Given the description of an element on the screen output the (x, y) to click on. 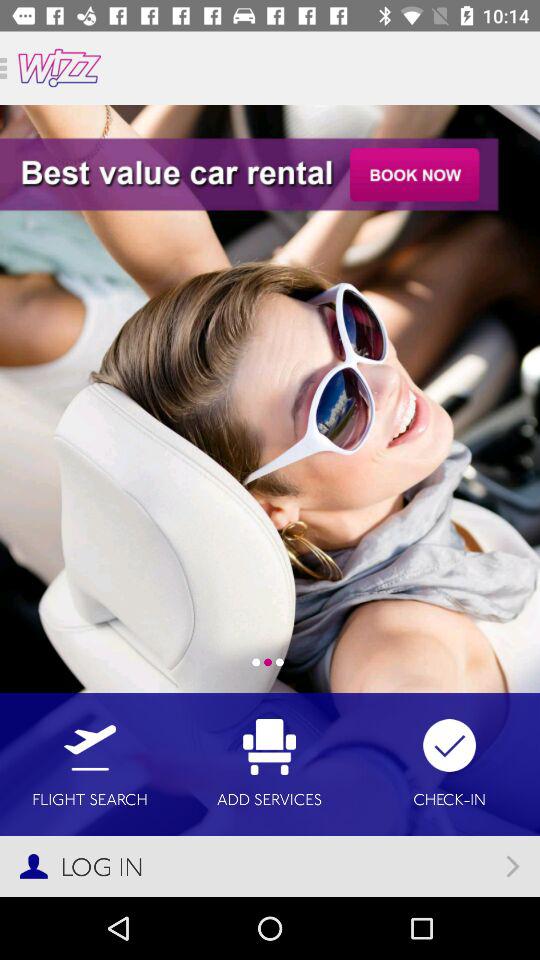
select icon to the left of the add services item (90, 764)
